Given the description of an element on the screen output the (x, y) to click on. 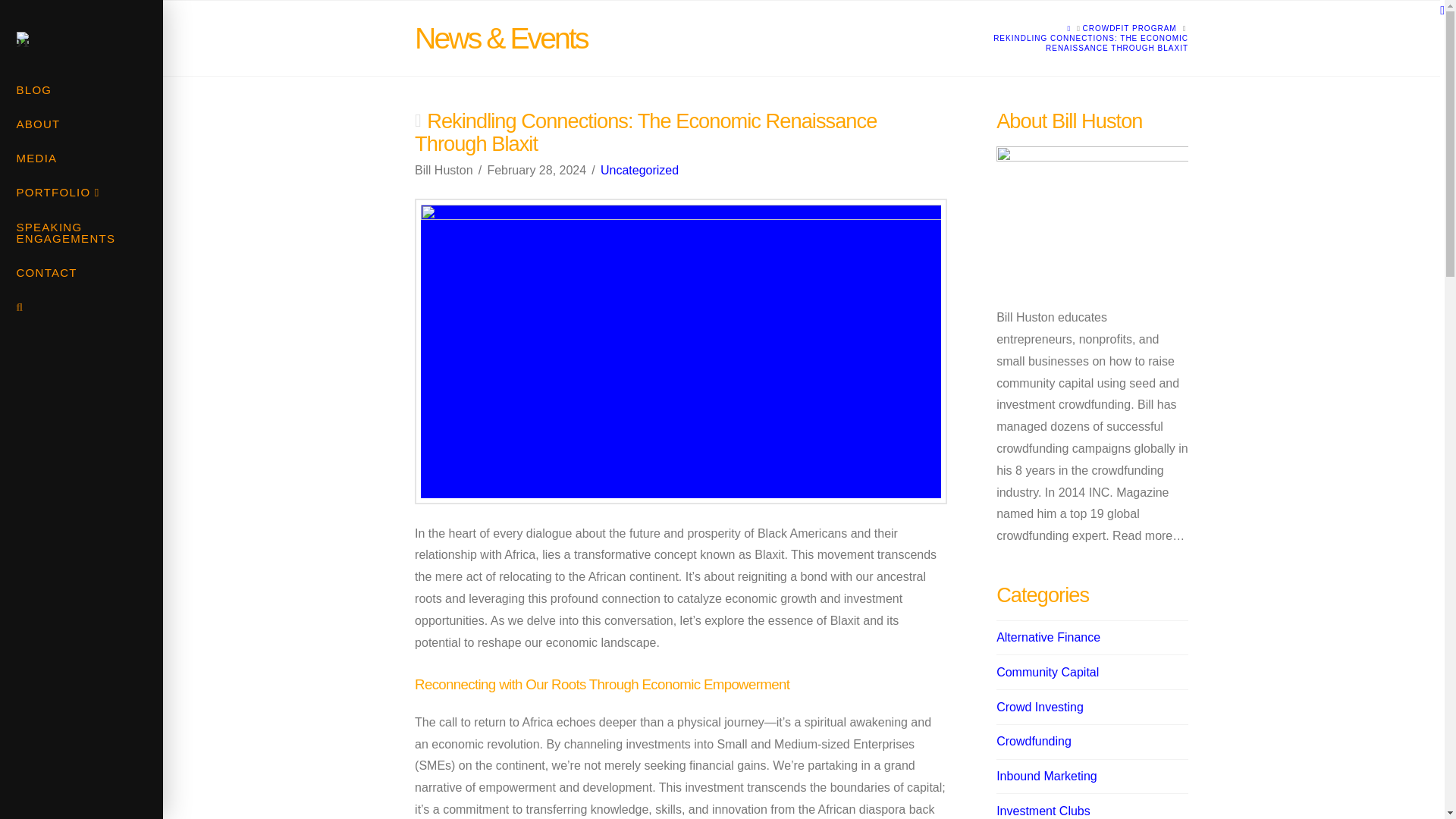
MEDIA (81, 159)
You Are Here (1072, 43)
CONTACT (81, 274)
Investment Clubs (1042, 810)
BLOG (81, 91)
ABOUT (81, 125)
Crowdfunding (1033, 741)
Contact (81, 274)
PORTFOLIO (81, 193)
